Given the description of an element on the screen output the (x, y) to click on. 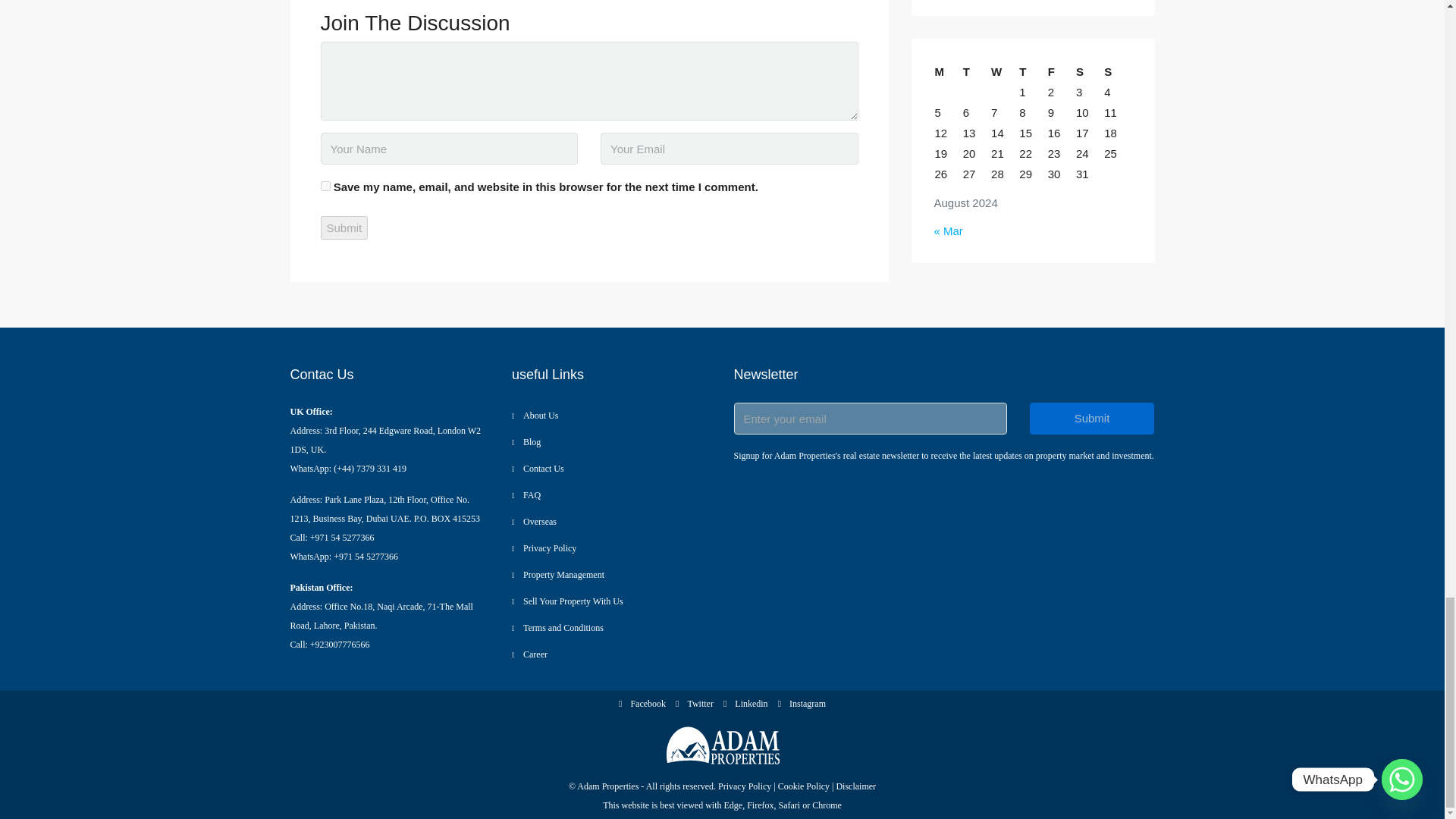
Saturday (1089, 71)
yes (325, 185)
Sunday (1117, 71)
Thursday (1031, 71)
Submit (344, 227)
Tuesday (976, 71)
Monday (948, 71)
Friday (1060, 71)
Wednesday (1003, 71)
